Given the description of an element on the screen output the (x, y) to click on. 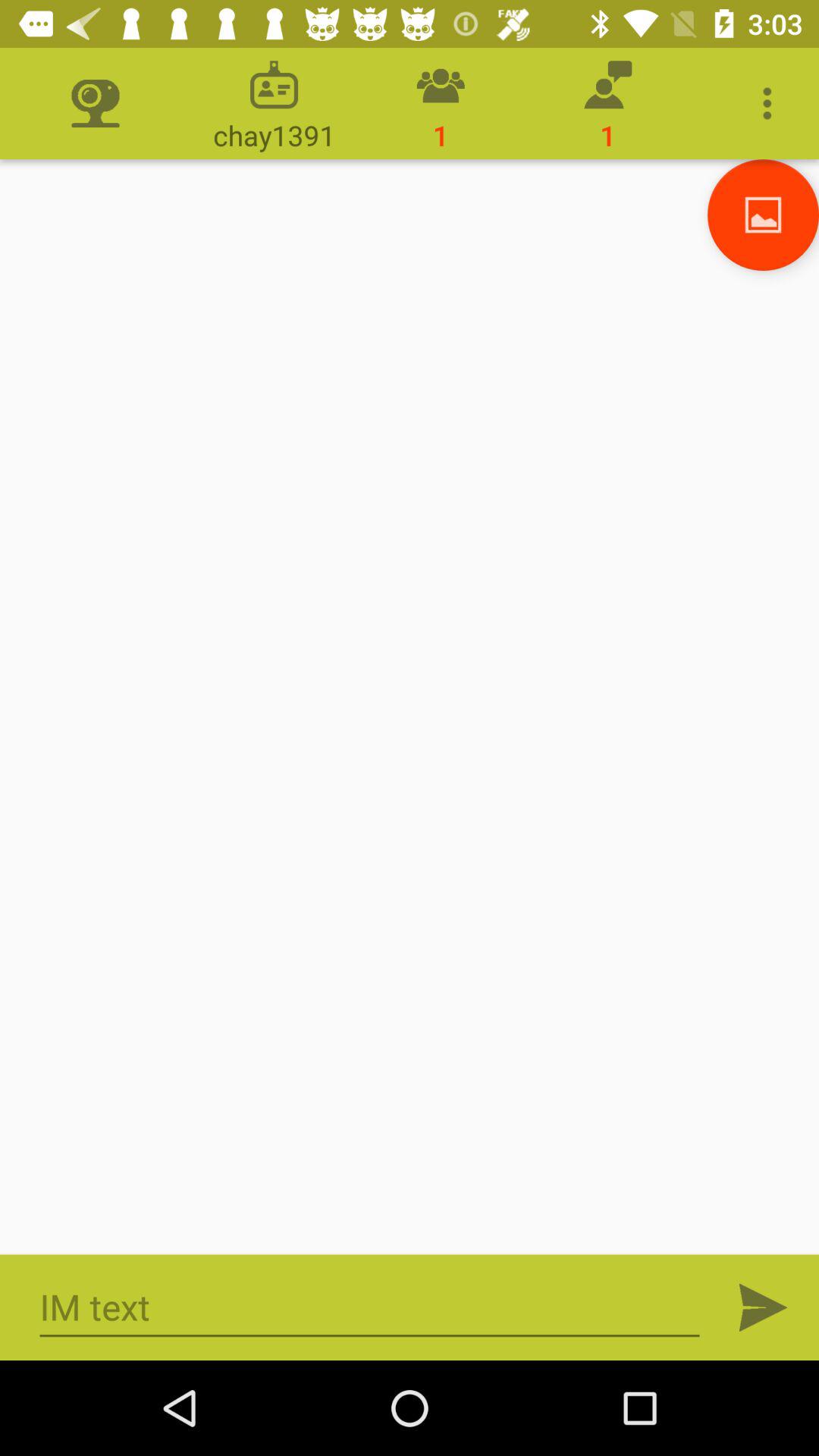
go to image opption (763, 214)
